Given the description of an element on the screen output the (x, y) to click on. 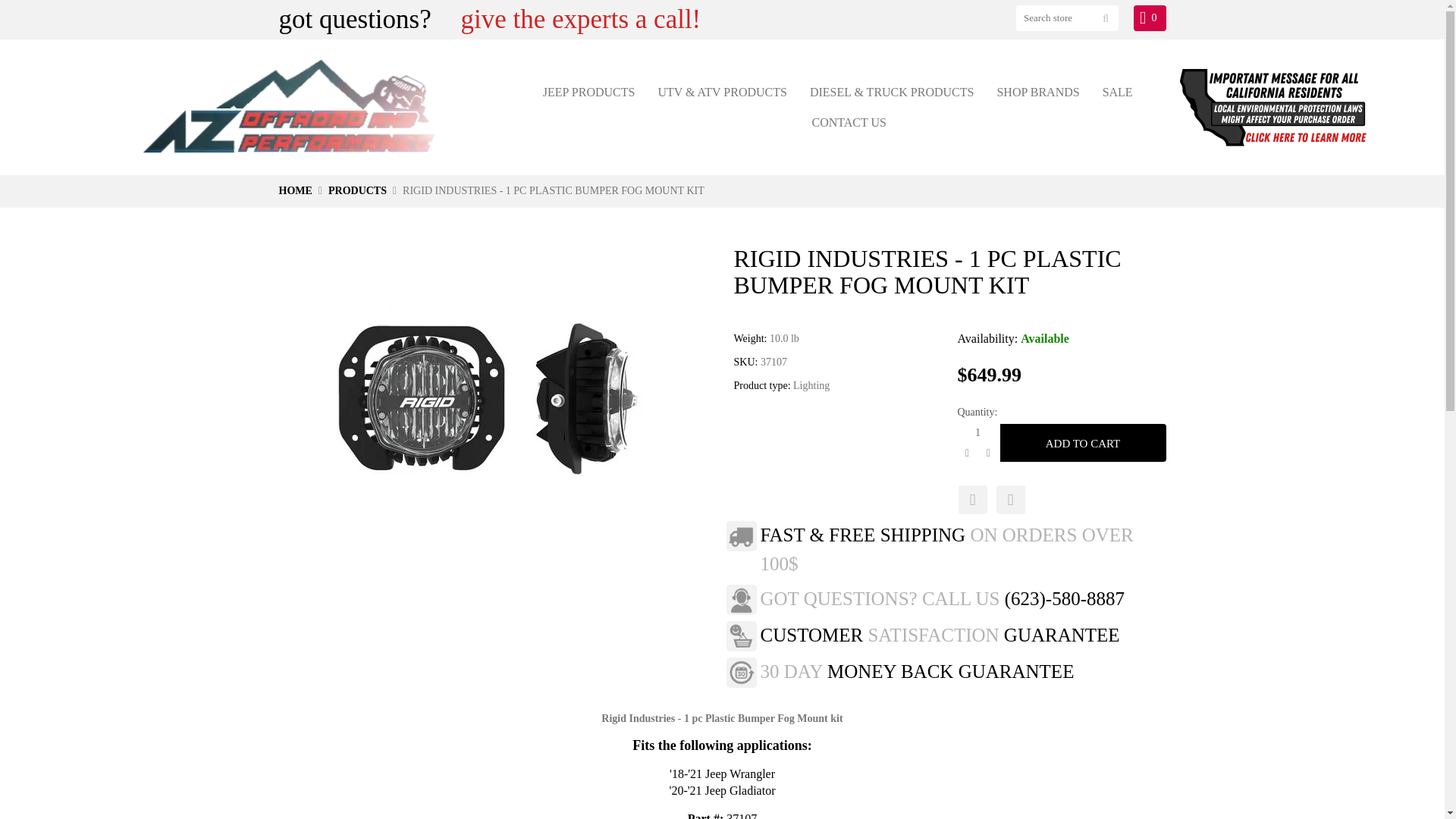
CONTACT US (847, 122)
0 (1150, 17)
JEEP PRODUCTS (588, 91)
PRODUCTS (358, 190)
ADD TO CART (1082, 442)
SHOP BRANDS (1036, 91)
HOME (296, 190)
Share (1009, 499)
Share (971, 499)
SALE (1117, 91)
1 (976, 433)
